Given the description of an element on the screen output the (x, y) to click on. 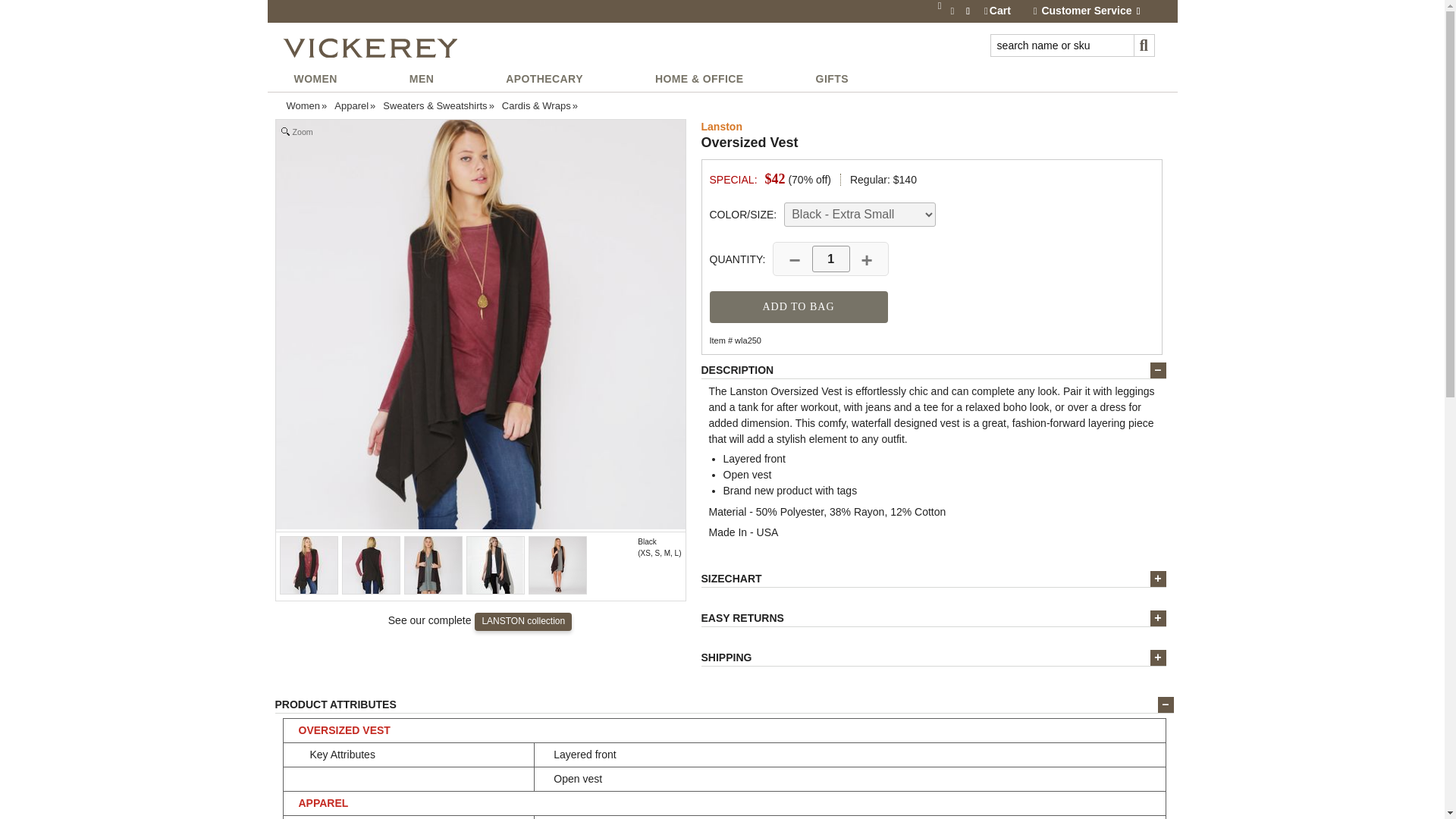
WOMEN (314, 78)
ADD TO BAG (799, 306)
1 (831, 258)
Vickerey (369, 48)
